Given the description of an element on the screen output the (x, y) to click on. 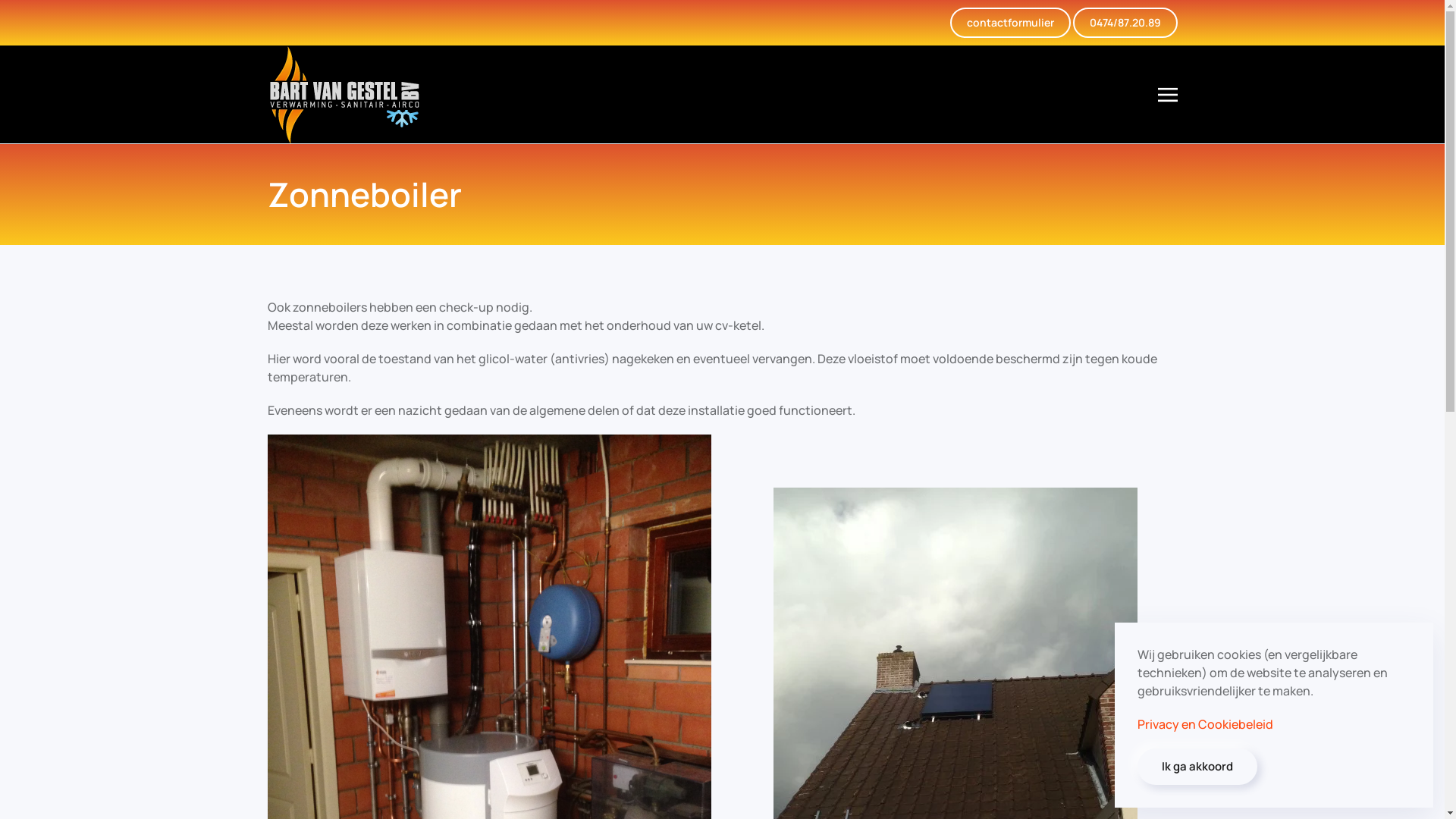
contactformulier Element type: text (1009, 22)
Ik ga akkoord Element type: text (1197, 766)
0474/87.20.89 Element type: text (1124, 22)
Privacy en Cookiebeleid Element type: text (1205, 723)
